Given the description of an element on the screen output the (x, y) to click on. 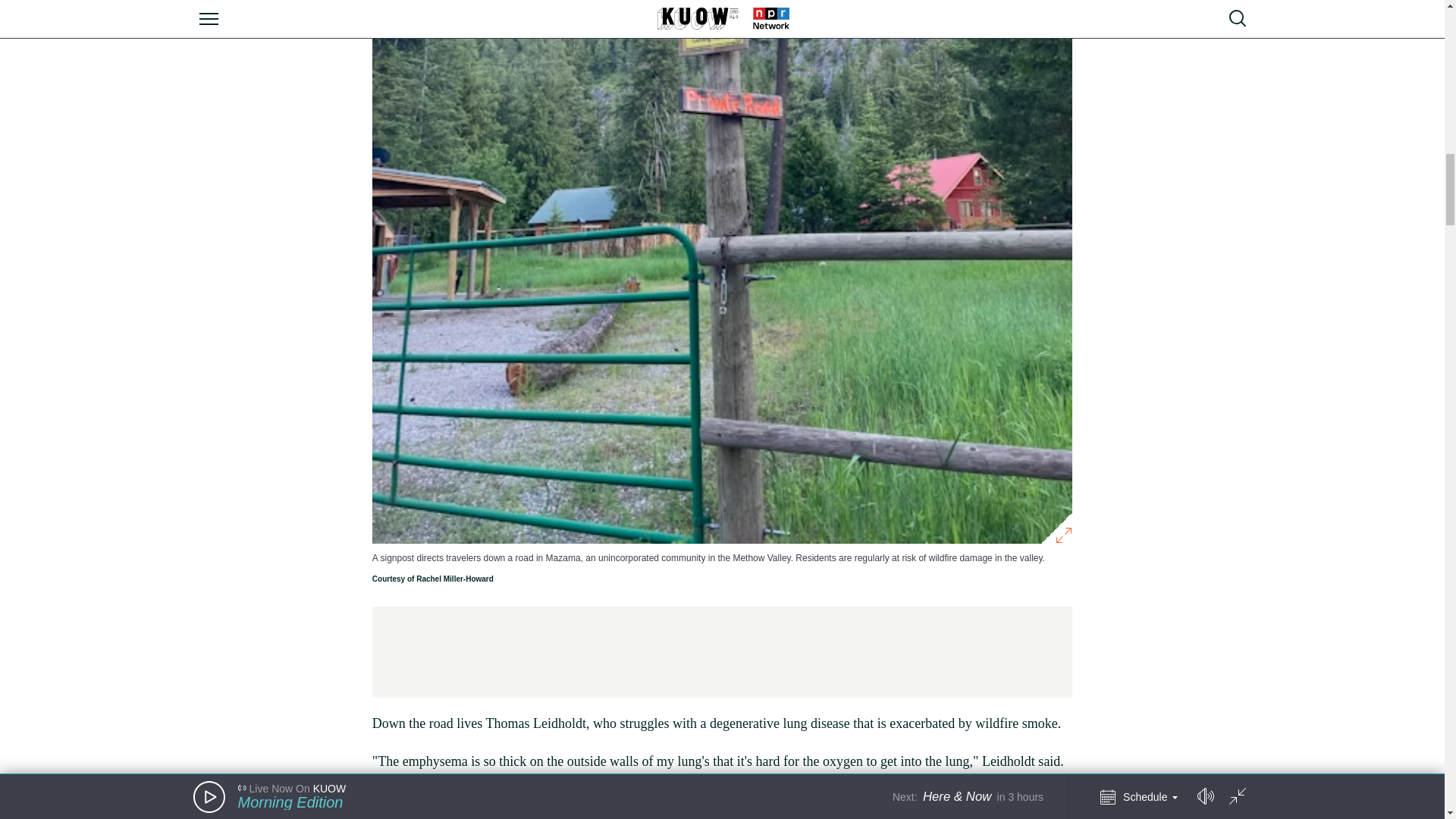
3rd party ad content (721, 652)
